Given the description of an element on the screen output the (x, y) to click on. 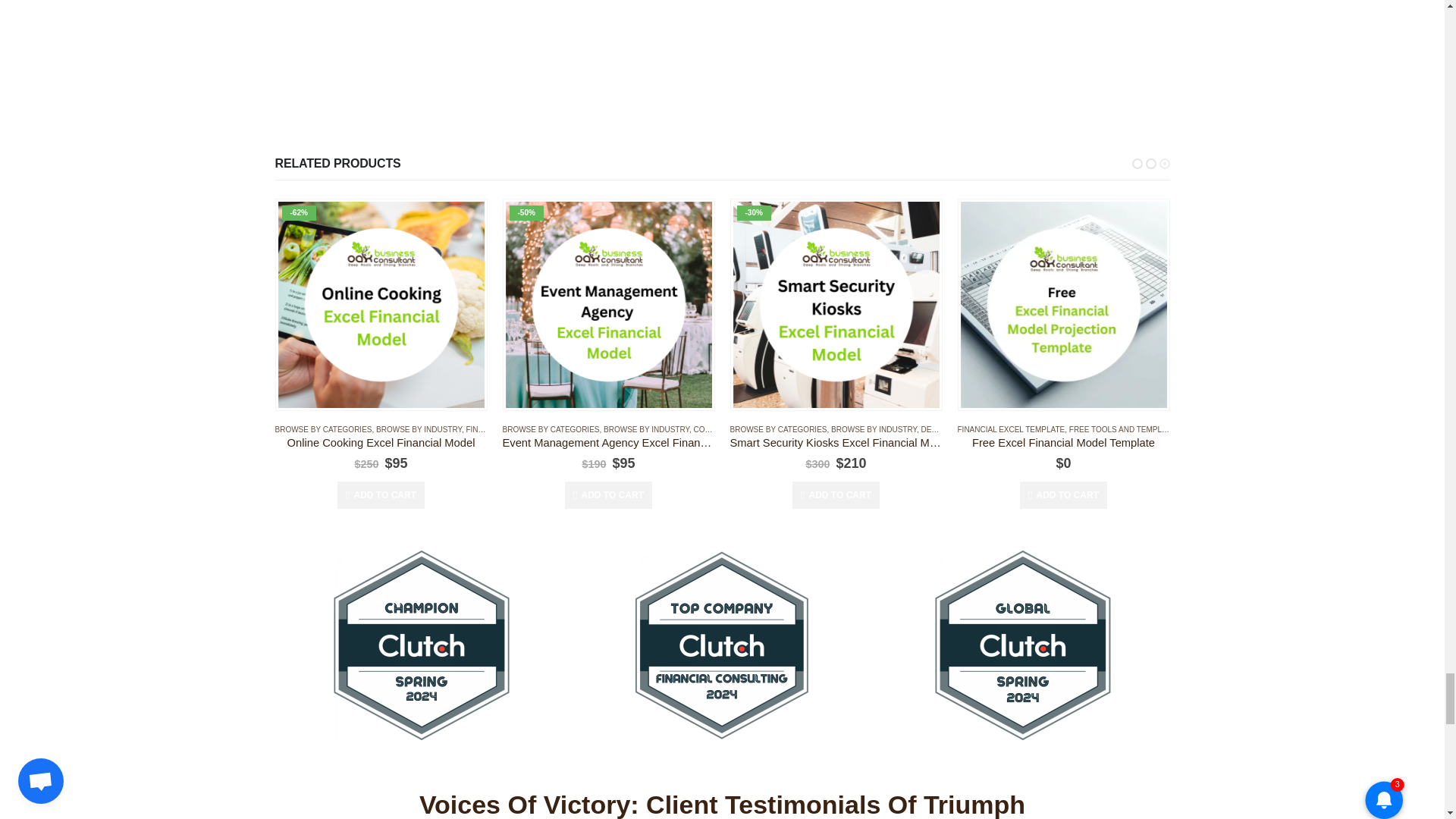
YouTube video player (608, 56)
